Given the description of an element on the screen output the (x, y) to click on. 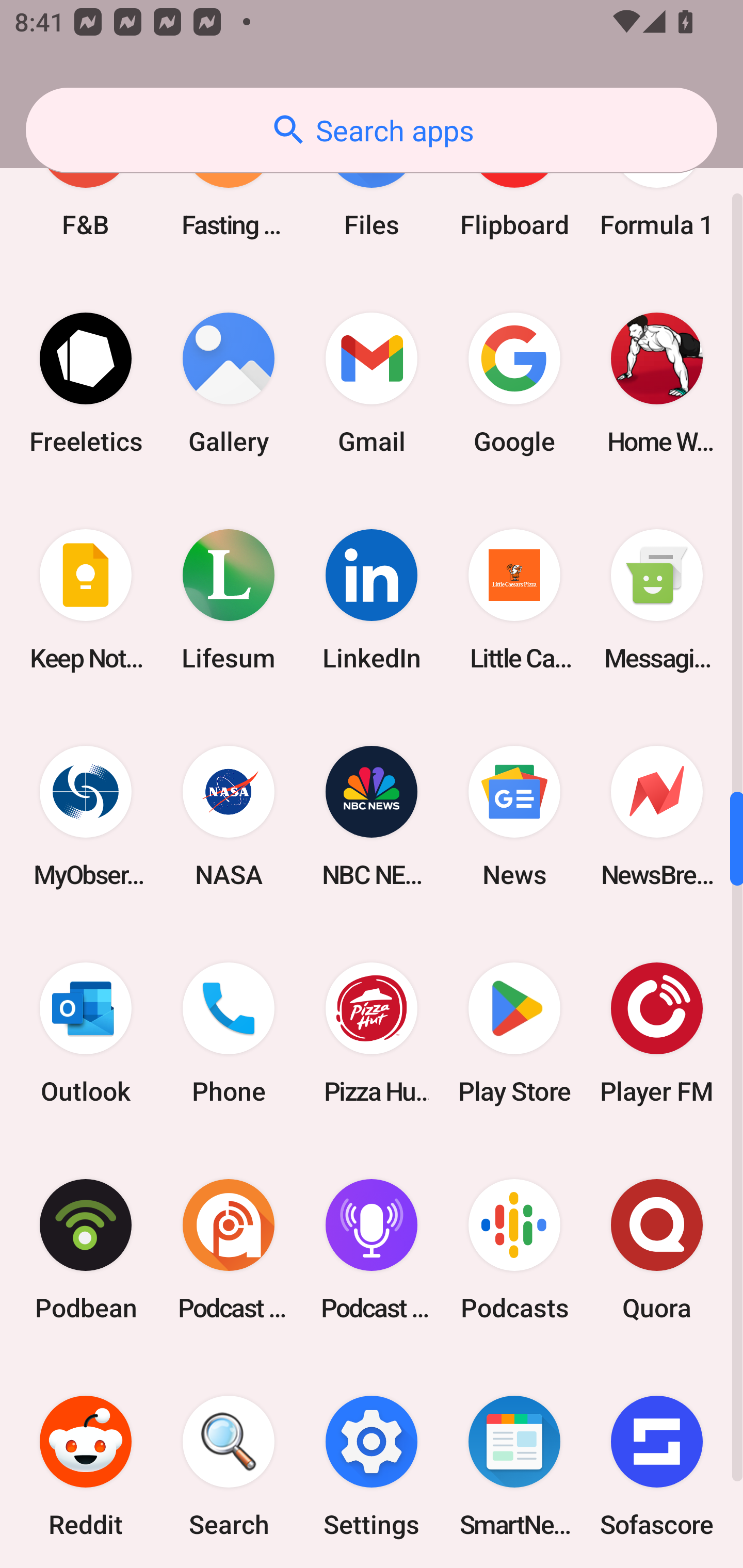
  Search apps (371, 130)
Freeletics (85, 382)
Gallery (228, 382)
Gmail (371, 382)
Google (514, 382)
Home Workout (656, 382)
Keep Notes (85, 599)
Lifesum (228, 599)
LinkedIn (371, 599)
Little Caesars Pizza (514, 599)
Messaging (656, 599)
MyObservatory (85, 816)
NASA (228, 816)
NBC NEWS (371, 816)
News (514, 816)
NewsBreak (656, 816)
Outlook (85, 1033)
Phone (228, 1033)
Pizza Hut HK & Macau (371, 1033)
Play Store (514, 1033)
Player FM (656, 1033)
Podbean (85, 1249)
Podcast Addict (228, 1249)
Podcast Player (371, 1249)
Podcasts (514, 1249)
Quora (656, 1249)
Reddit (85, 1462)
Search (228, 1462)
Settings (371, 1462)
SmartNews (514, 1462)
Sofascore (656, 1462)
